Given the description of an element on the screen output the (x, y) to click on. 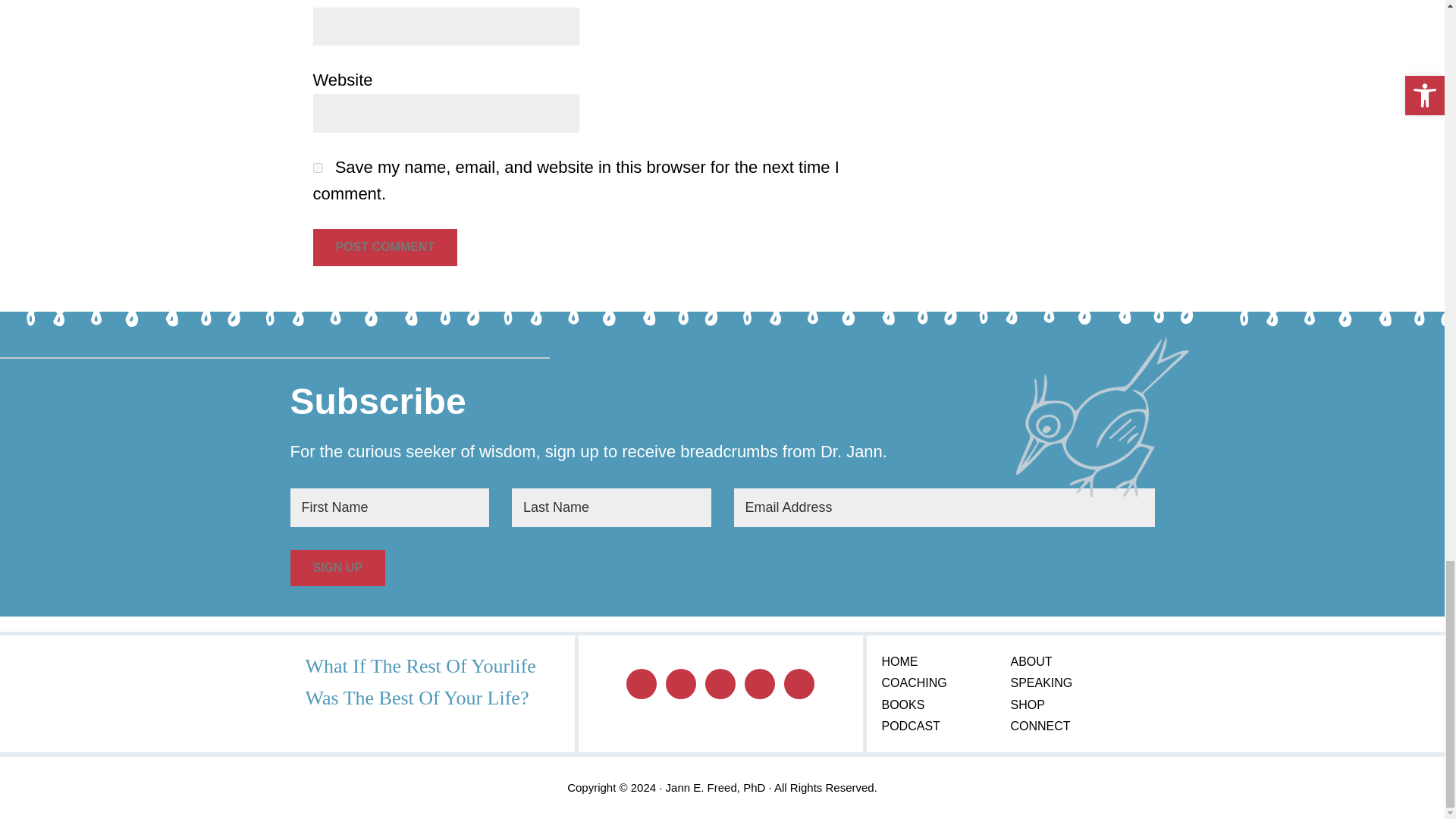
yes (317, 167)
Post Comment (385, 247)
